Given the description of an element on the screen output the (x, y) to click on. 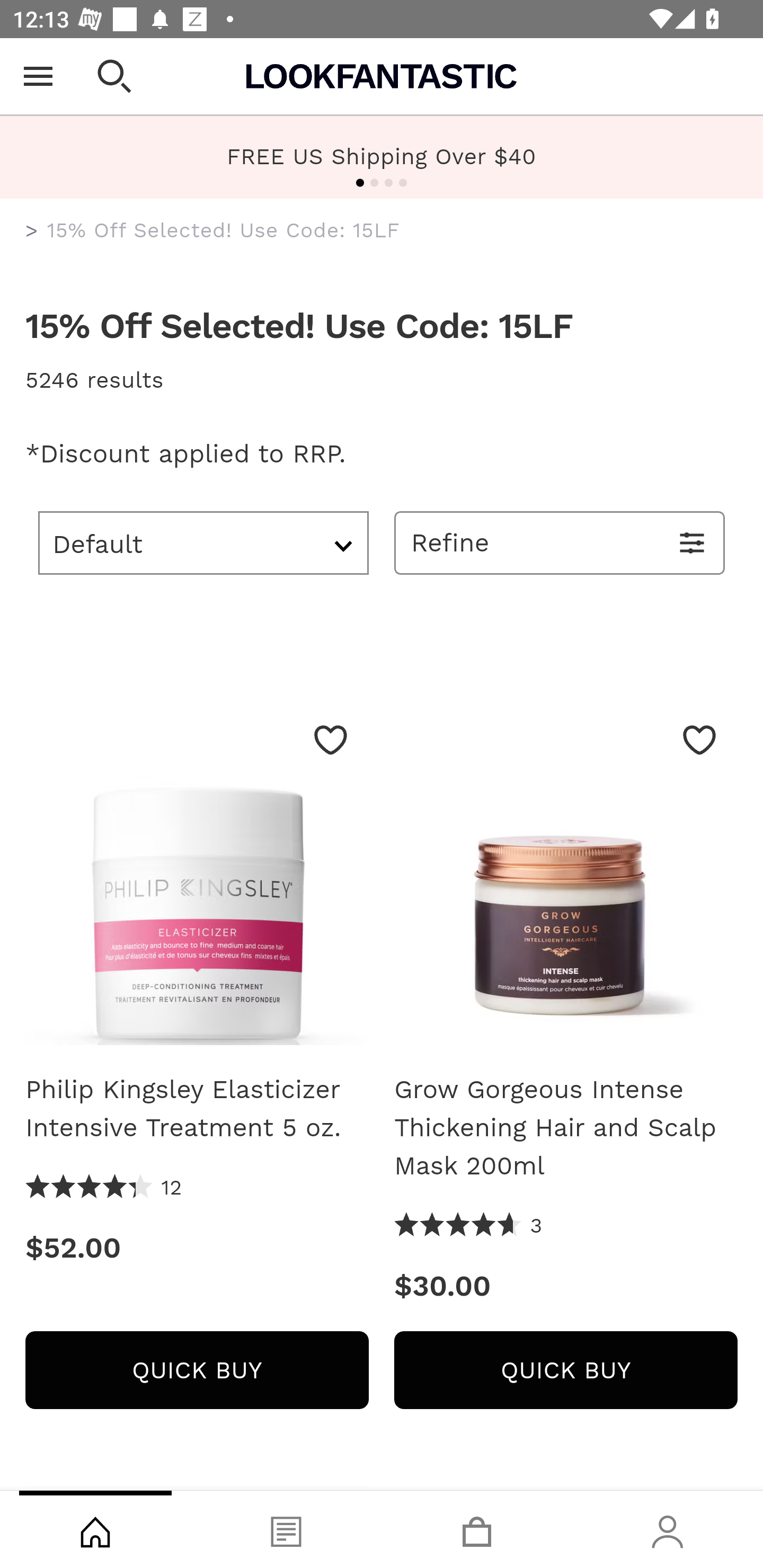
Open Menu (38, 75)
Open search (114, 75)
Lookfantastic USA (381, 75)
FREE US Shipping Over $40 (381, 157)
FREE US Shipping Over $40 (381, 155)
us.lookfantastic (32, 230)
Default (203, 542)
Refine (559, 542)
Save to Wishlist (330, 740)
Save to Wishlist (698, 740)
4.33 Stars 12 Reviews (104, 1187)
4.67 Stars 3 Reviews (468, 1225)
Price: $52.00 (196, 1247)
Price: $30.00 (565, 1286)
Shop, tab, 1 of 4 (95, 1529)
Blog, tab, 2 of 4 (285, 1529)
Basket, tab, 3 of 4 (476, 1529)
Account, tab, 4 of 4 (667, 1529)
